Given the description of an element on the screen output the (x, y) to click on. 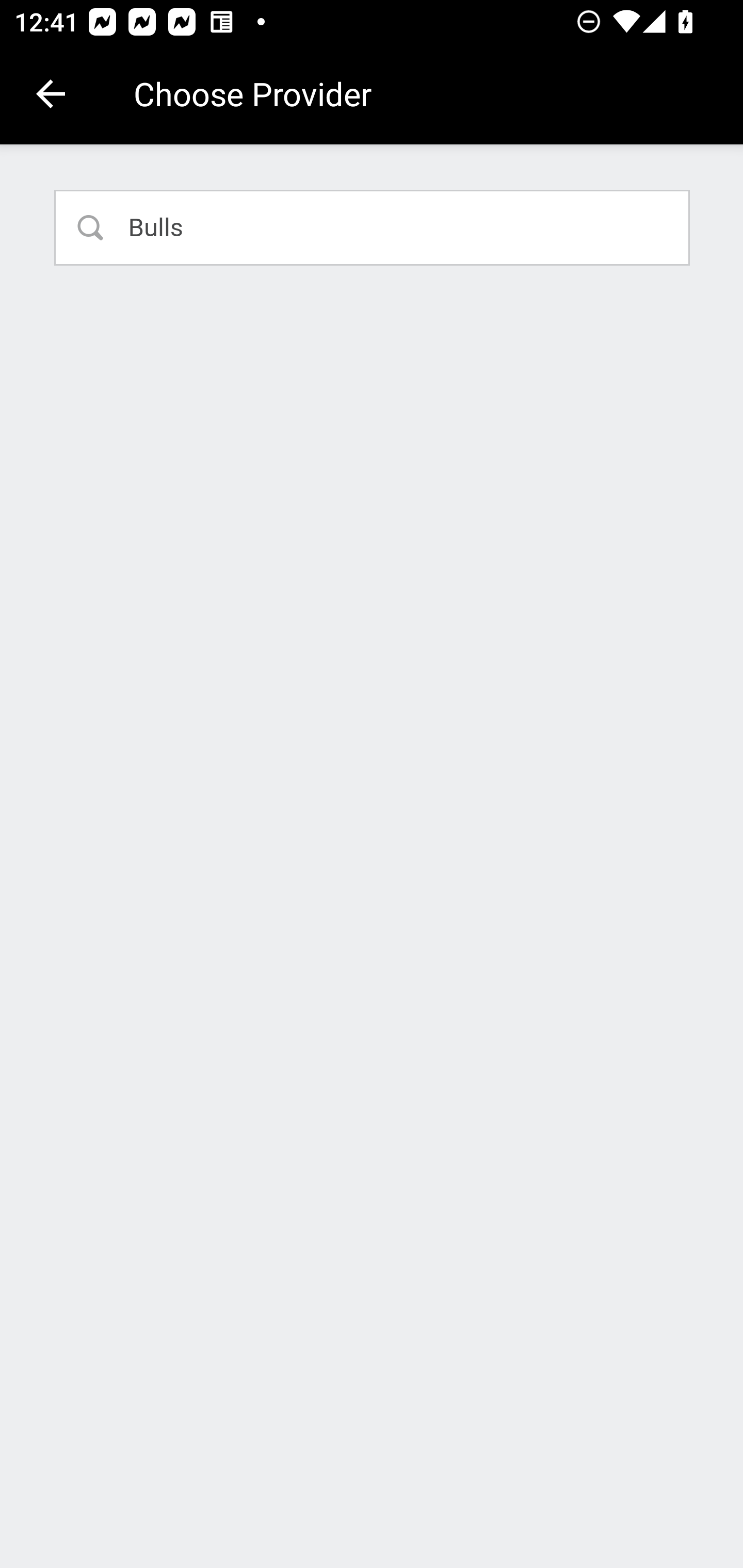
Navigate up (50, 93)
Bulls (372, 227)
